Given the description of an element on the screen output the (x, y) to click on. 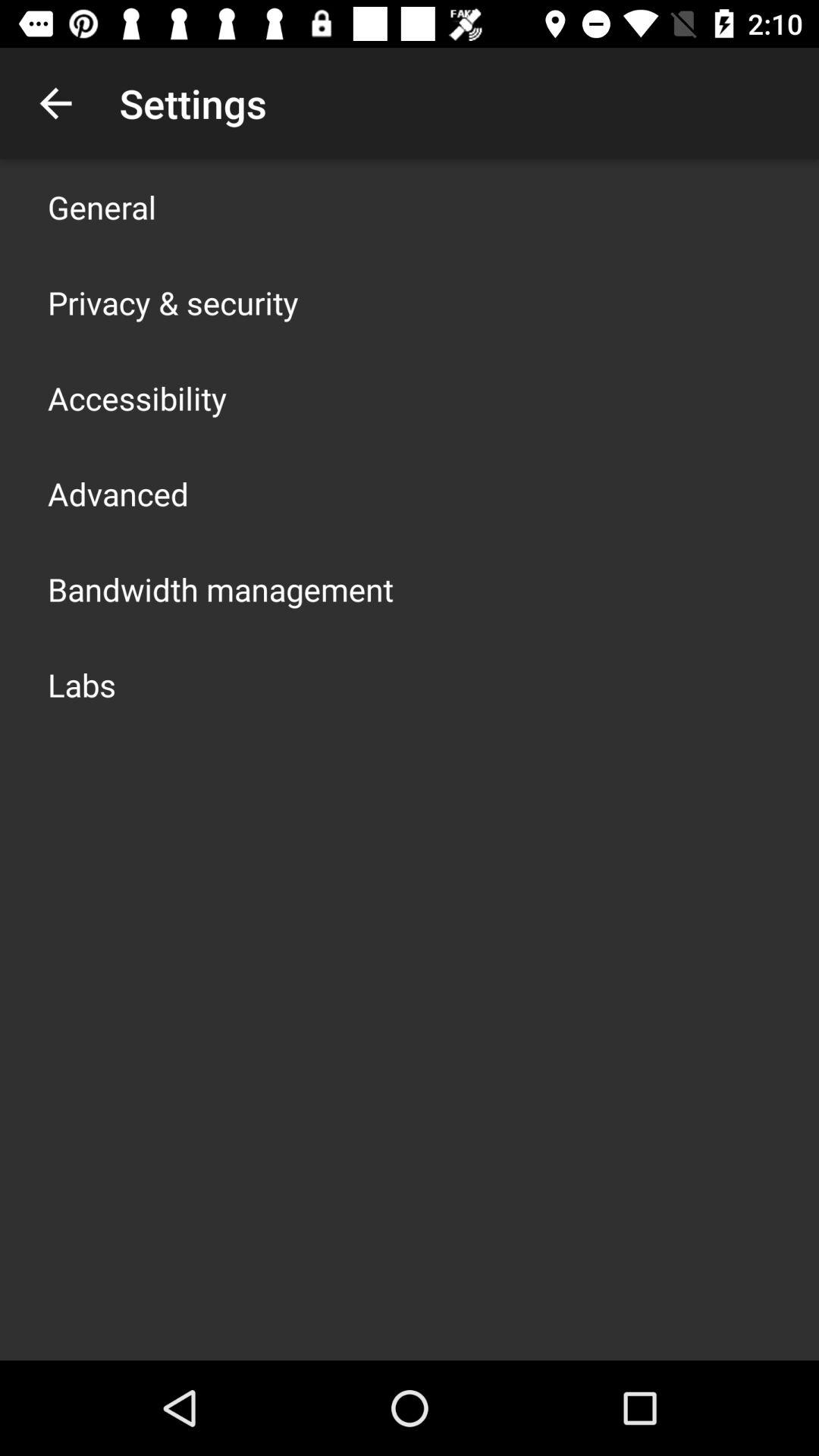
open item above the accessibility app (172, 302)
